Given the description of an element on the screen output the (x, y) to click on. 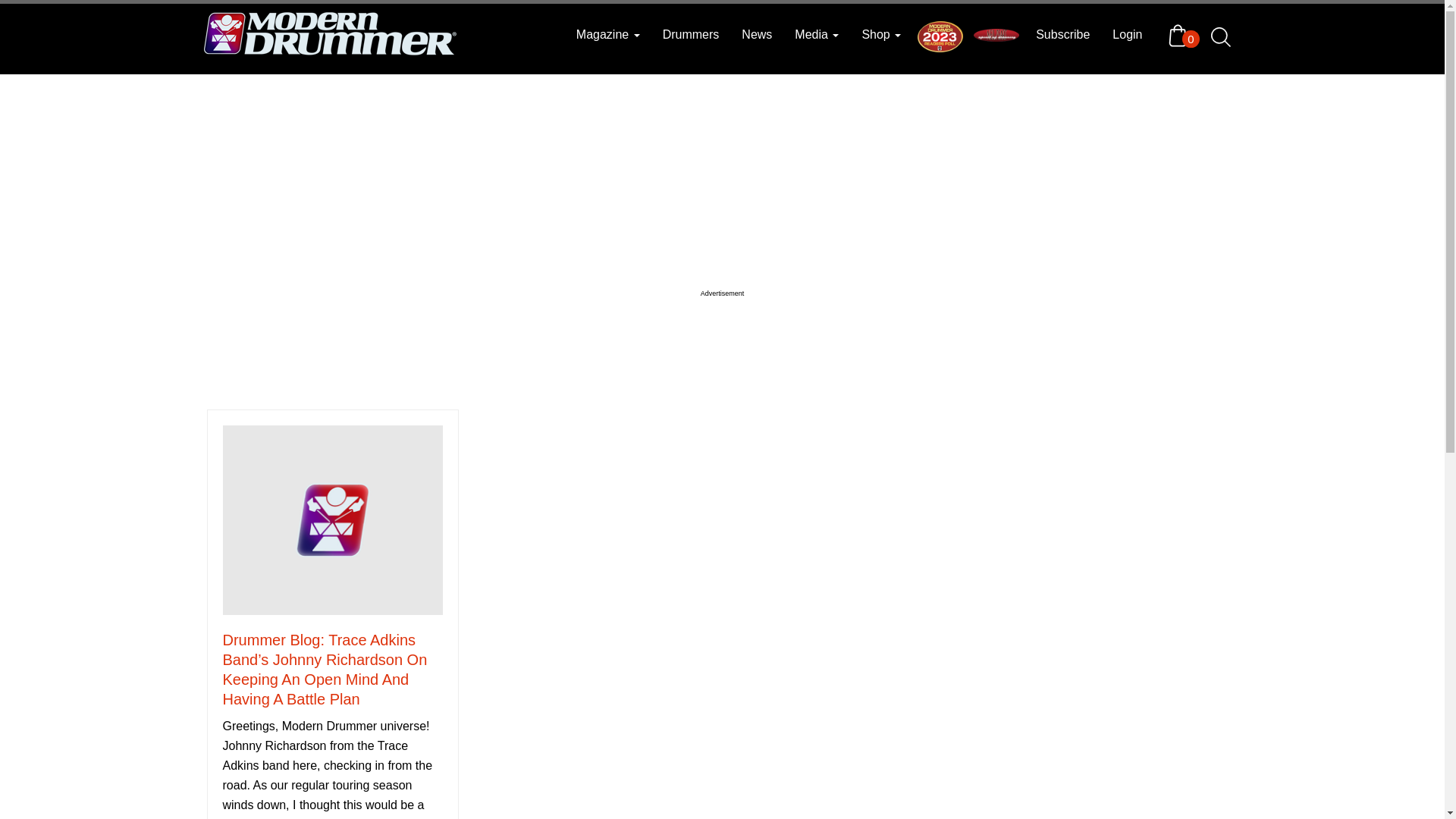
Magazine (607, 34)
subscribe (1062, 34)
0 (1180, 35)
View your Orders (1180, 35)
Shop (881, 34)
Media (816, 34)
Drummers (690, 34)
Subscribe (1062, 34)
